Given the description of an element on the screen output the (x, y) to click on. 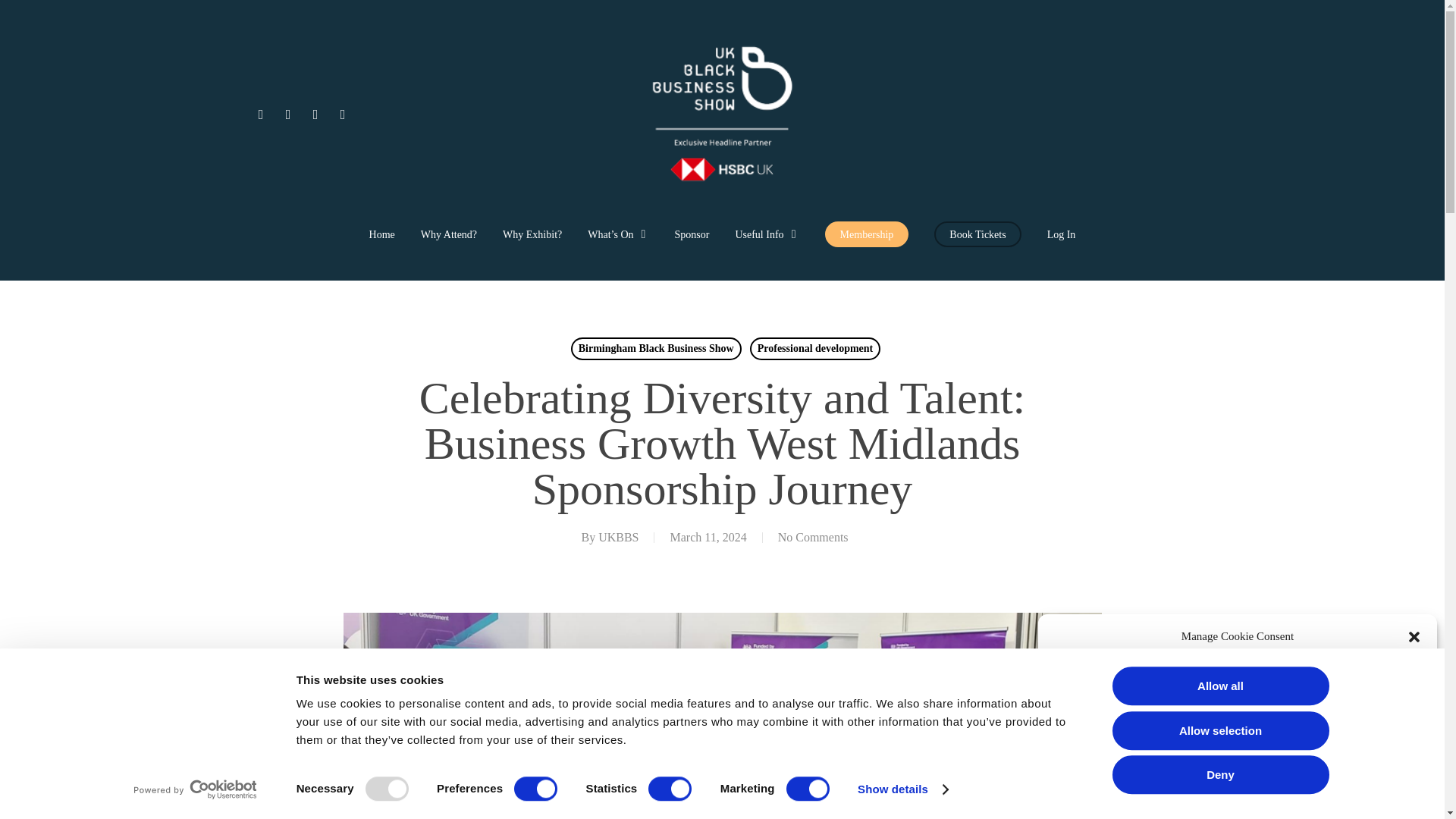
Privacy Policy (1267, 789)
View preferences (1363, 753)
Cookie Policy (1206, 789)
Deny (1236, 753)
Accept (1111, 753)
Show details (902, 789)
